Given the description of an element on the screen output the (x, y) to click on. 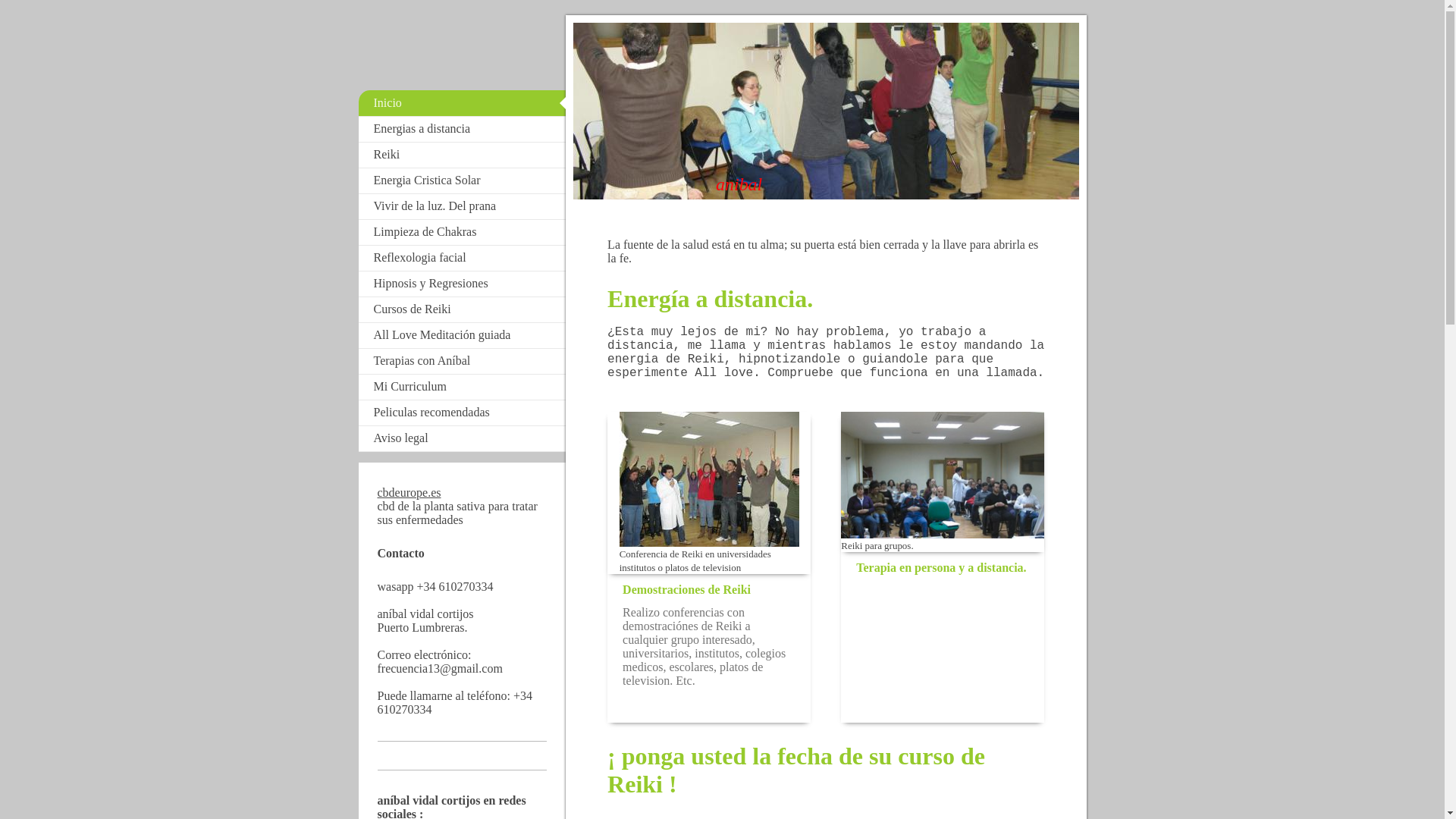
Energia Cristica Solar Element type: text (461, 180)
Limpieza de Chakras Element type: text (461, 232)
Cursos de Reiki Element type: text (461, 309)
Reflexologia facial Element type: text (461, 257)
Aviso legal Element type: text (461, 438)
Hipnosis y Regresiones Element type: text (461, 283)
Reiki para grupos. Element type: hover (942, 481)
Reiki Element type: text (461, 154)
Peliculas recomendadas Element type: text (461, 412)
Vivir de la luz. Del prana Element type: text (461, 206)
Inicio Element type: text (461, 103)
Energias a distancia Element type: text (461, 129)
Mi Curriculum Element type: text (461, 386)
cbdeurope.es Element type: text (409, 492)
